Given the description of an element on the screen output the (x, y) to click on. 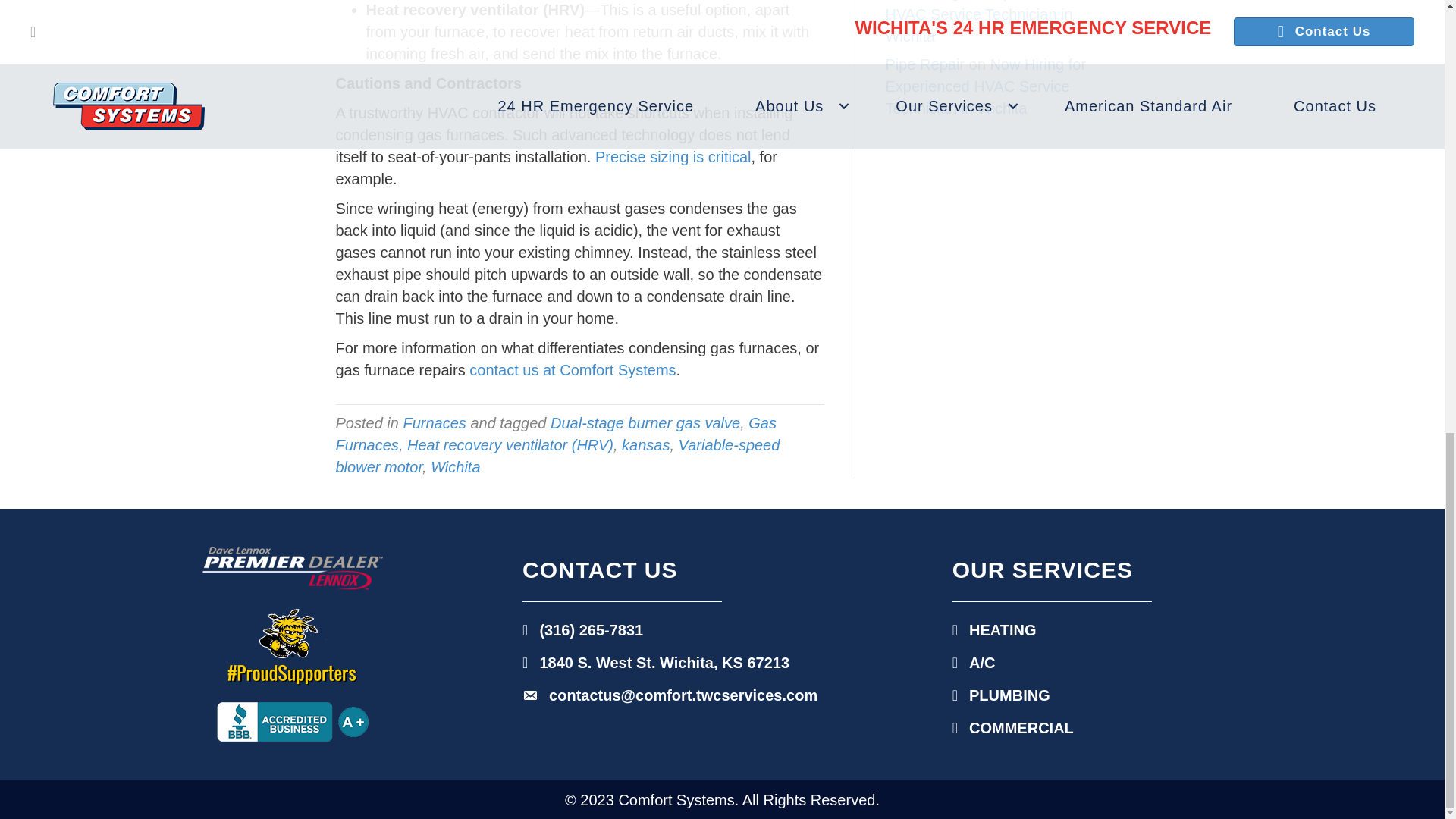
Precise sizing is critical (673, 156)
Variable-speed blower motor (556, 455)
Gas Furnaces (555, 433)
shocker-2 (292, 646)
Furnaces (434, 422)
bbb-accredited-business (292, 721)
kansas (645, 444)
Wichita (455, 466)
lennox-dealer (292, 568)
contact us at Comfort Systems (571, 369)
Dual-stage burner gas valve (644, 422)
